Given the description of an element on the screen output the (x, y) to click on. 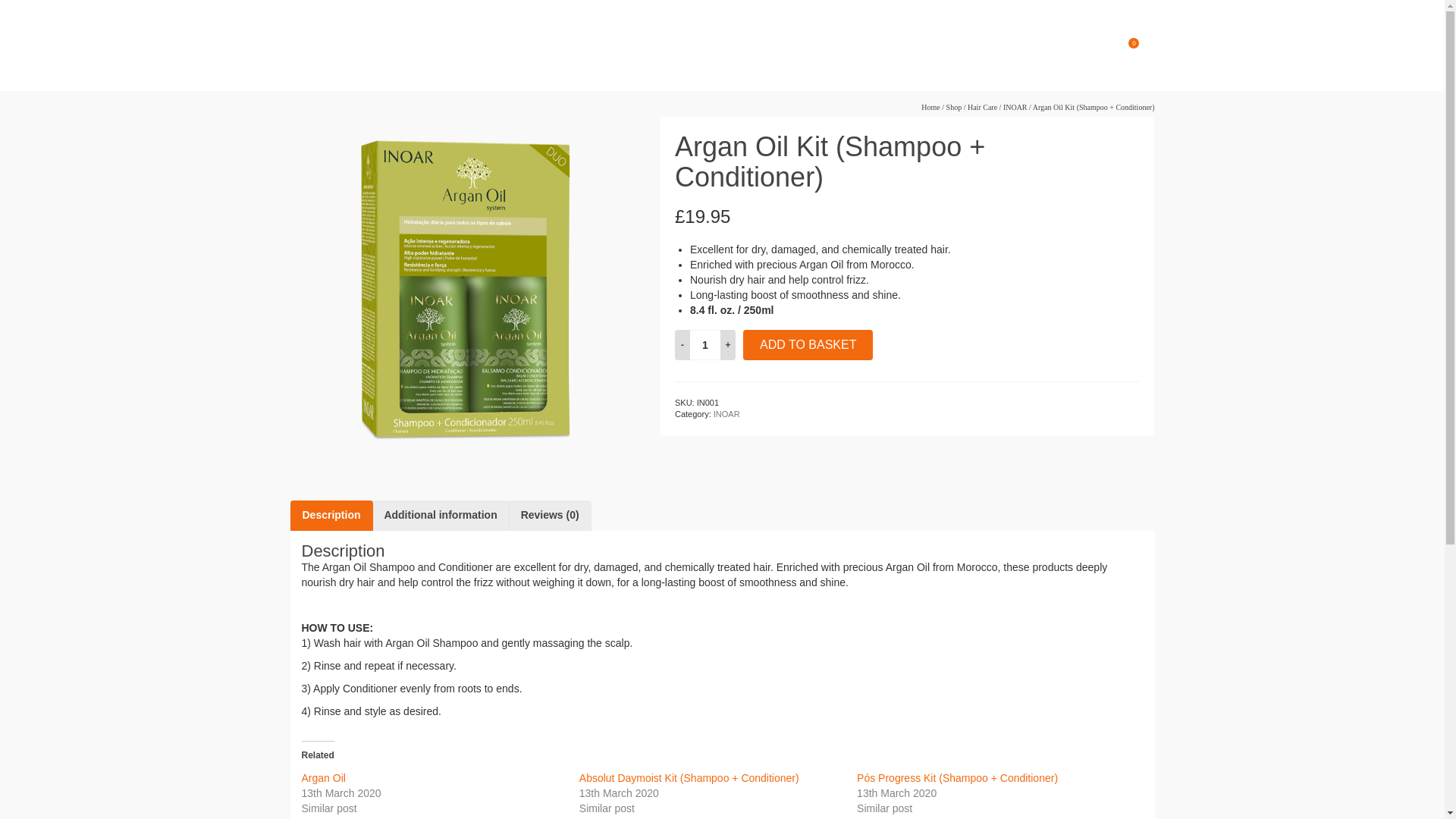
Argan Oil (323, 777)
Argan Oil System (462, 288)
Argan Oil (323, 777)
Contact Us (912, 45)
My Account (1000, 45)
Qty (705, 345)
Description (331, 515)
Shop (954, 107)
1 (705, 345)
INOAR (1015, 107)
Hair Care (982, 107)
Home (930, 107)
Additional information (439, 515)
INOAR (726, 413)
ADD TO BASKET (807, 345)
